Given the description of an element on the screen output the (x, y) to click on. 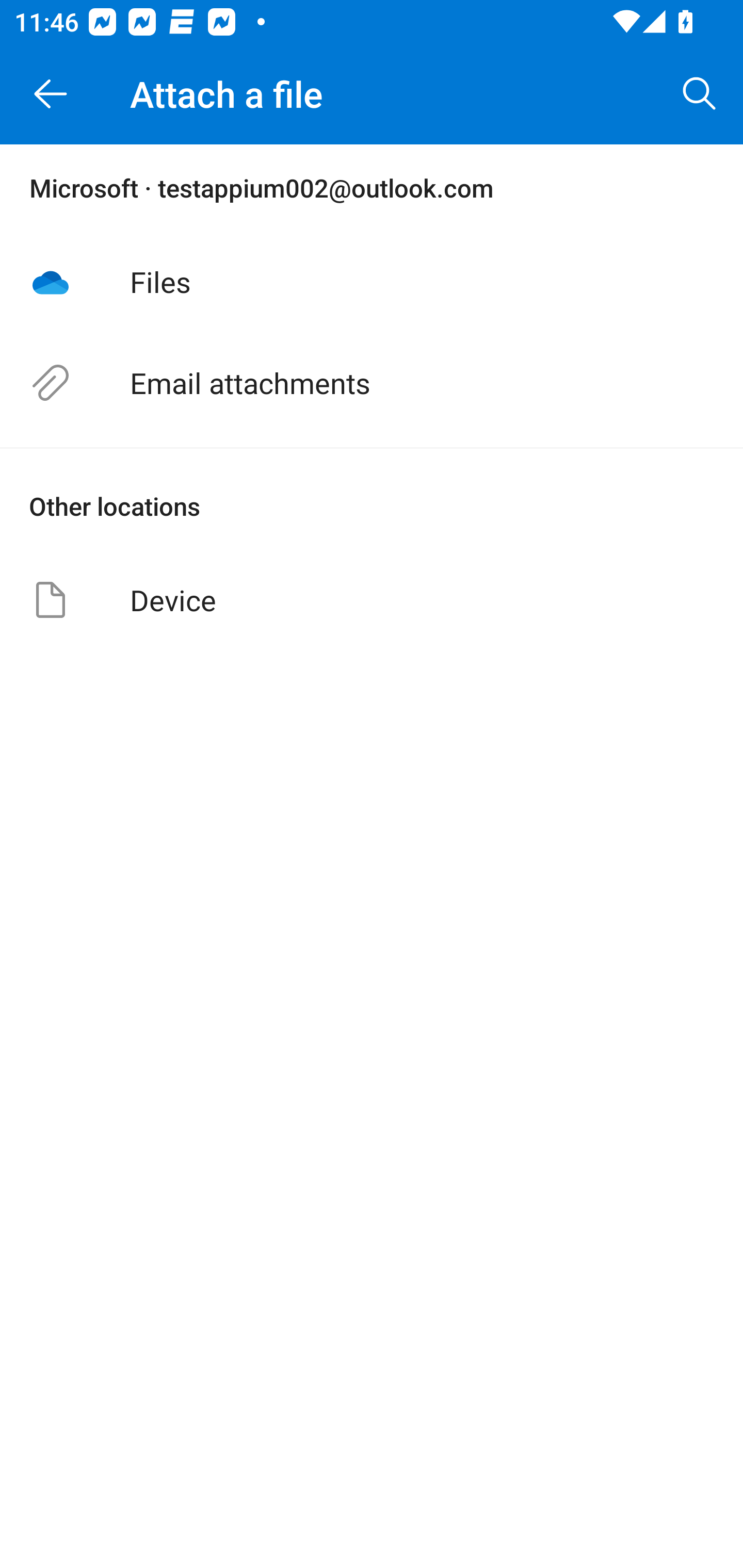
Navigate up (50, 93)
Search button (699, 93)
Files (371, 281)
Email attachments (371, 382)
Device (371, 599)
